Given the description of an element on the screen output the (x, y) to click on. 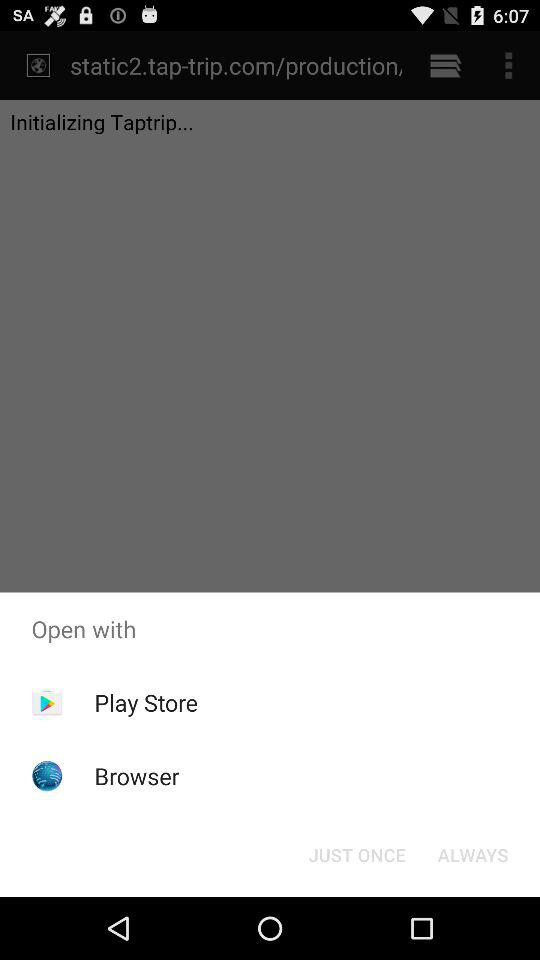
open icon to the right of just once button (472, 854)
